Given the description of an element on the screen output the (x, y) to click on. 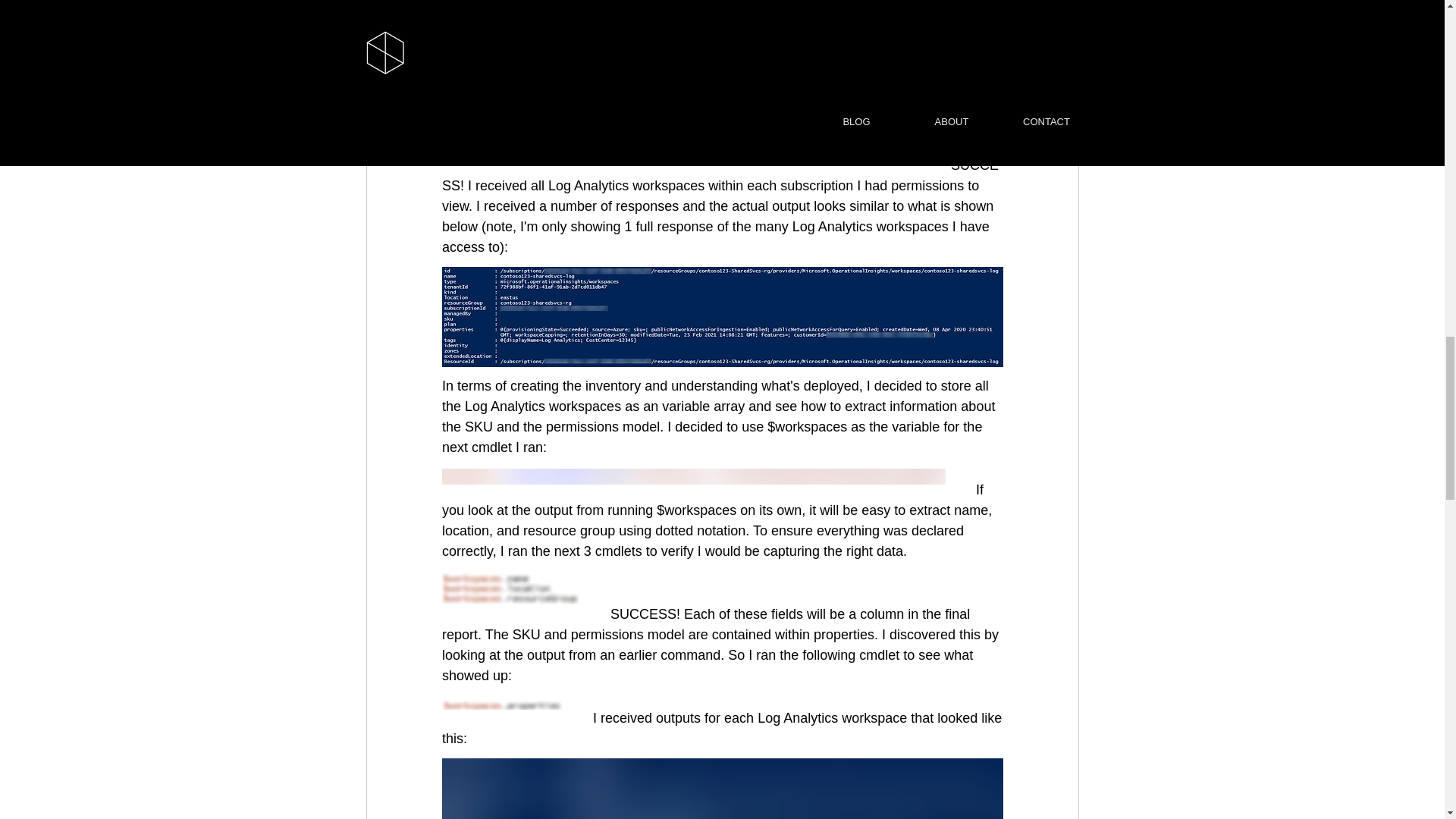
Microsoft.OperationalInsights (850, 61)
resource provider (532, 20)
